Given the description of an element on the screen output the (x, y) to click on. 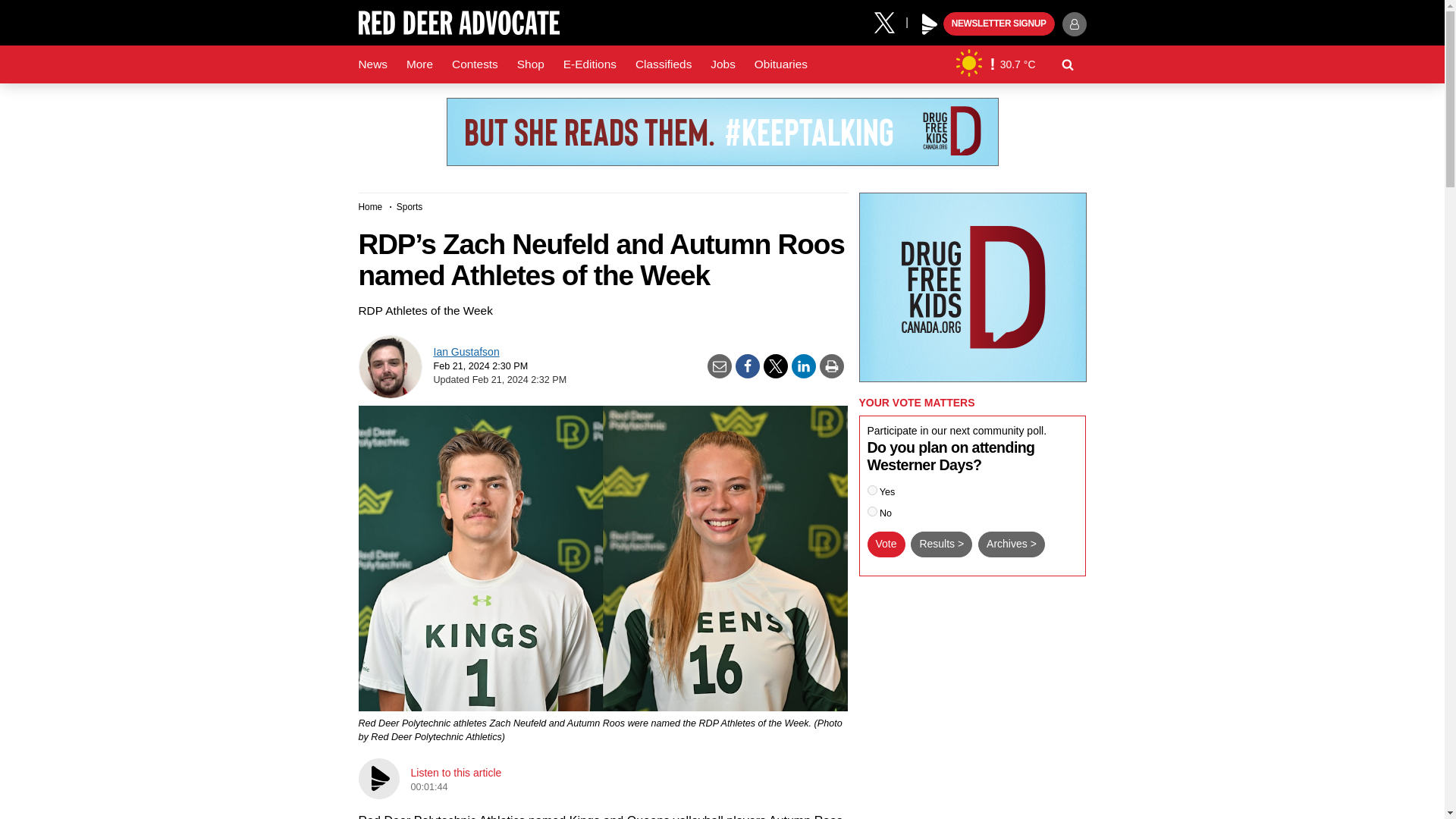
NEWSLETTER SIGNUP (998, 24)
X (889, 21)
Black Press Media (929, 24)
Play (929, 24)
3rd party ad content (721, 131)
News (372, 64)
237 (872, 511)
236 (872, 490)
